Given the description of an element on the screen output the (x, y) to click on. 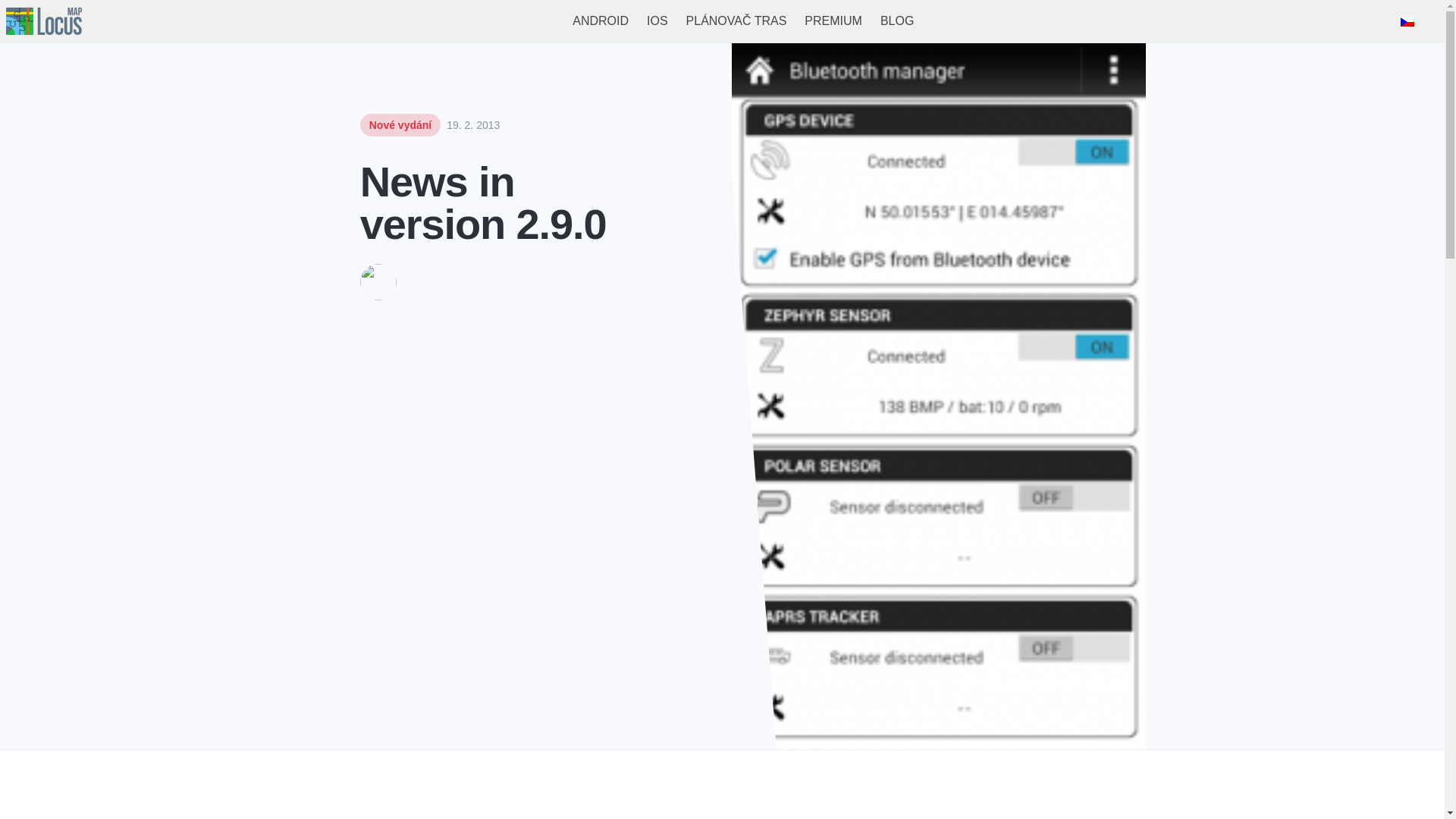
PREMIUM (858, 21)
Blog (922, 21)
ANDROID (626, 21)
BLOG (922, 21)
Android (626, 21)
iOS (683, 21)
Premium (858, 21)
IOS (683, 21)
